Given the description of an element on the screen output the (x, y) to click on. 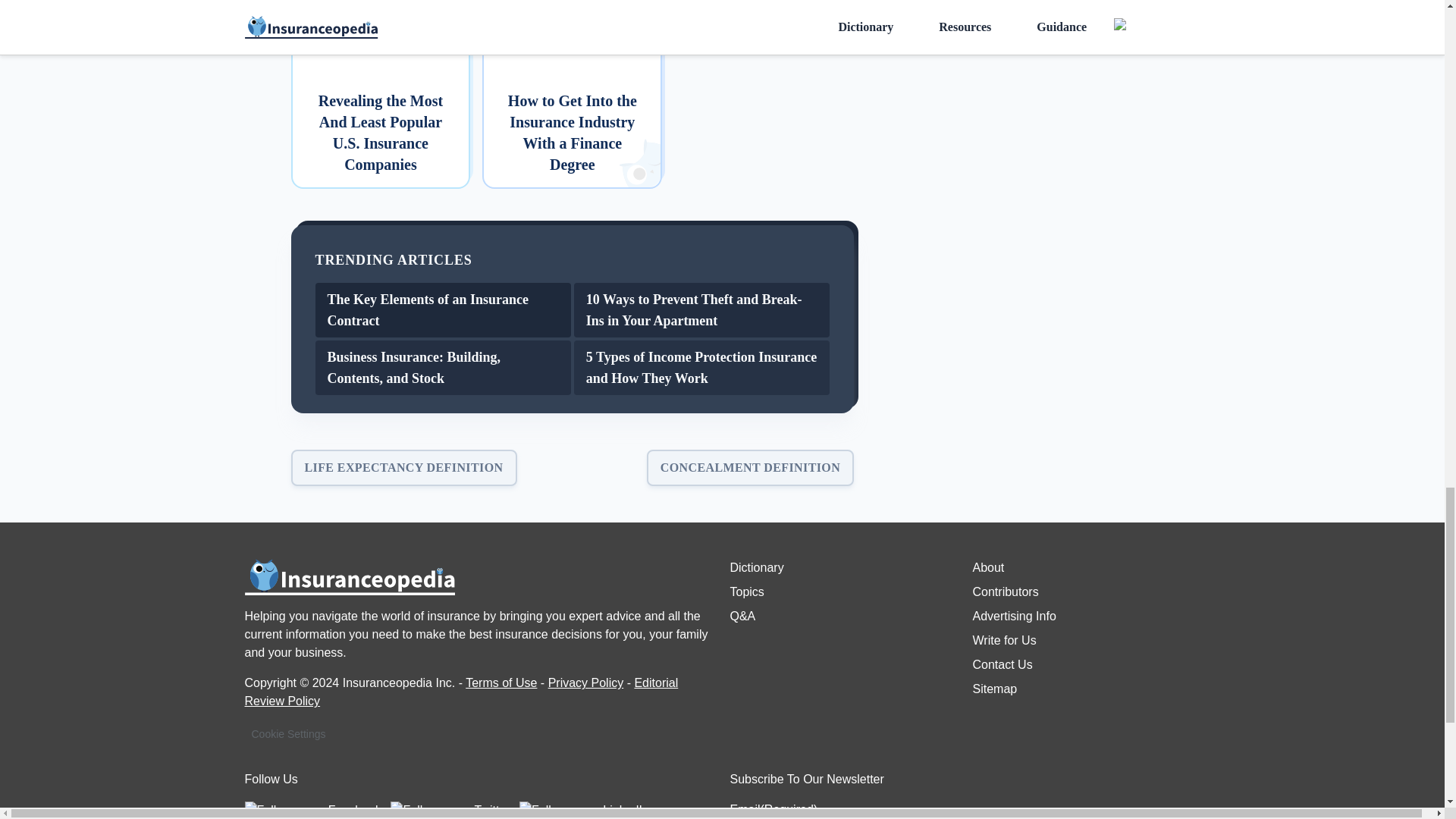
How to Get Into the Insurance Industry With a Finance Degree (571, 94)
Submit (1174, 818)
